Given the description of an element on the screen output the (x, y) to click on. 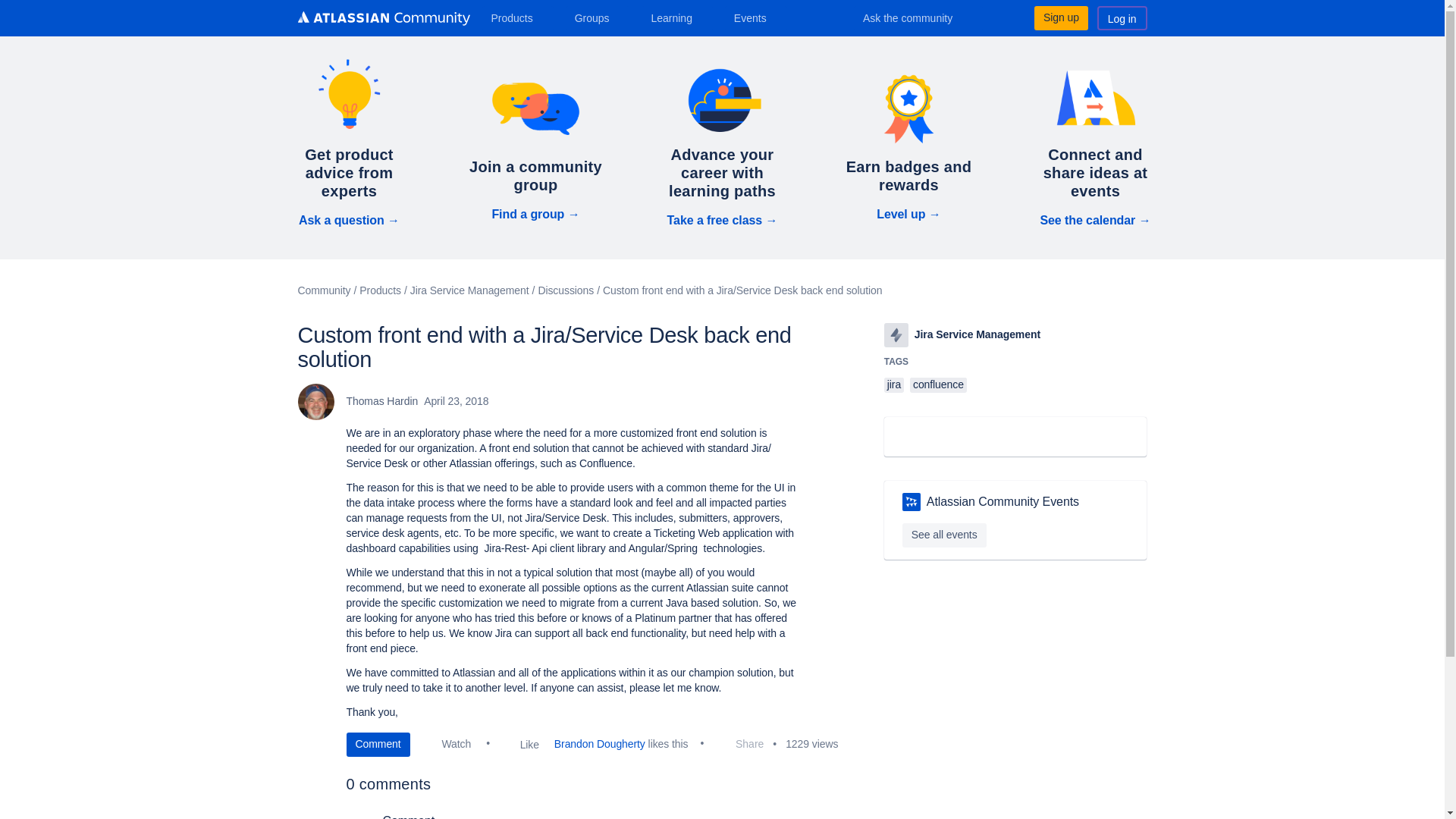
Sign up (1060, 17)
Learning (676, 17)
Groups (598, 17)
Log in (1122, 17)
Atlassian Community logo (382, 19)
Events (756, 17)
Products (517, 17)
Jira Service Desk (895, 334)
Thomas Hardin (315, 402)
Ask the community  (917, 17)
AUG Leaders (911, 502)
Atlassian Community logo (382, 18)
